Given the description of an element on the screen output the (x, y) to click on. 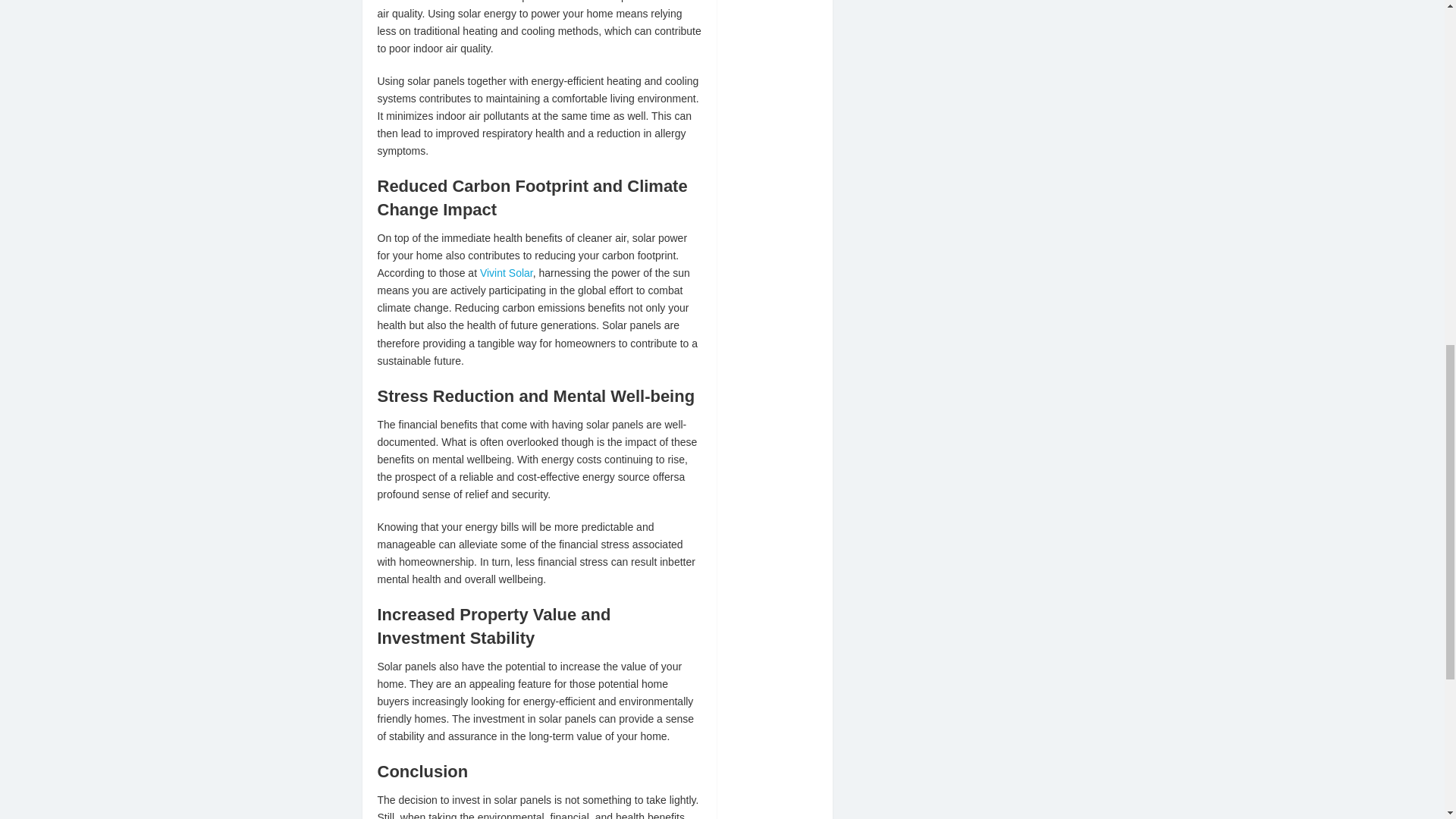
Vivint Solar (506, 272)
